Given the description of an element on the screen output the (x, y) to click on. 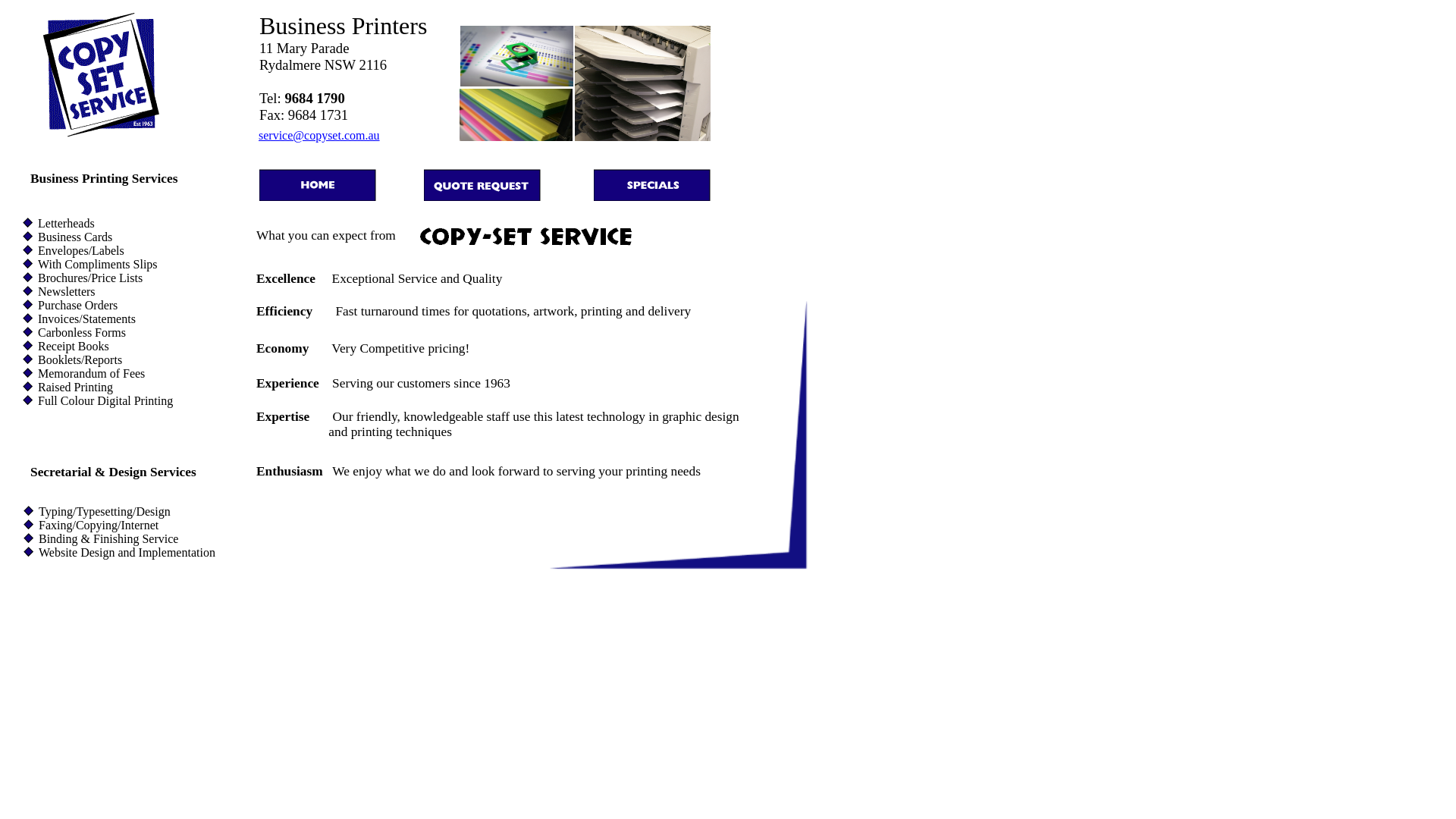
service@copyset.com.au Element type: text (318, 134)
